Given the description of an element on the screen output the (x, y) to click on. 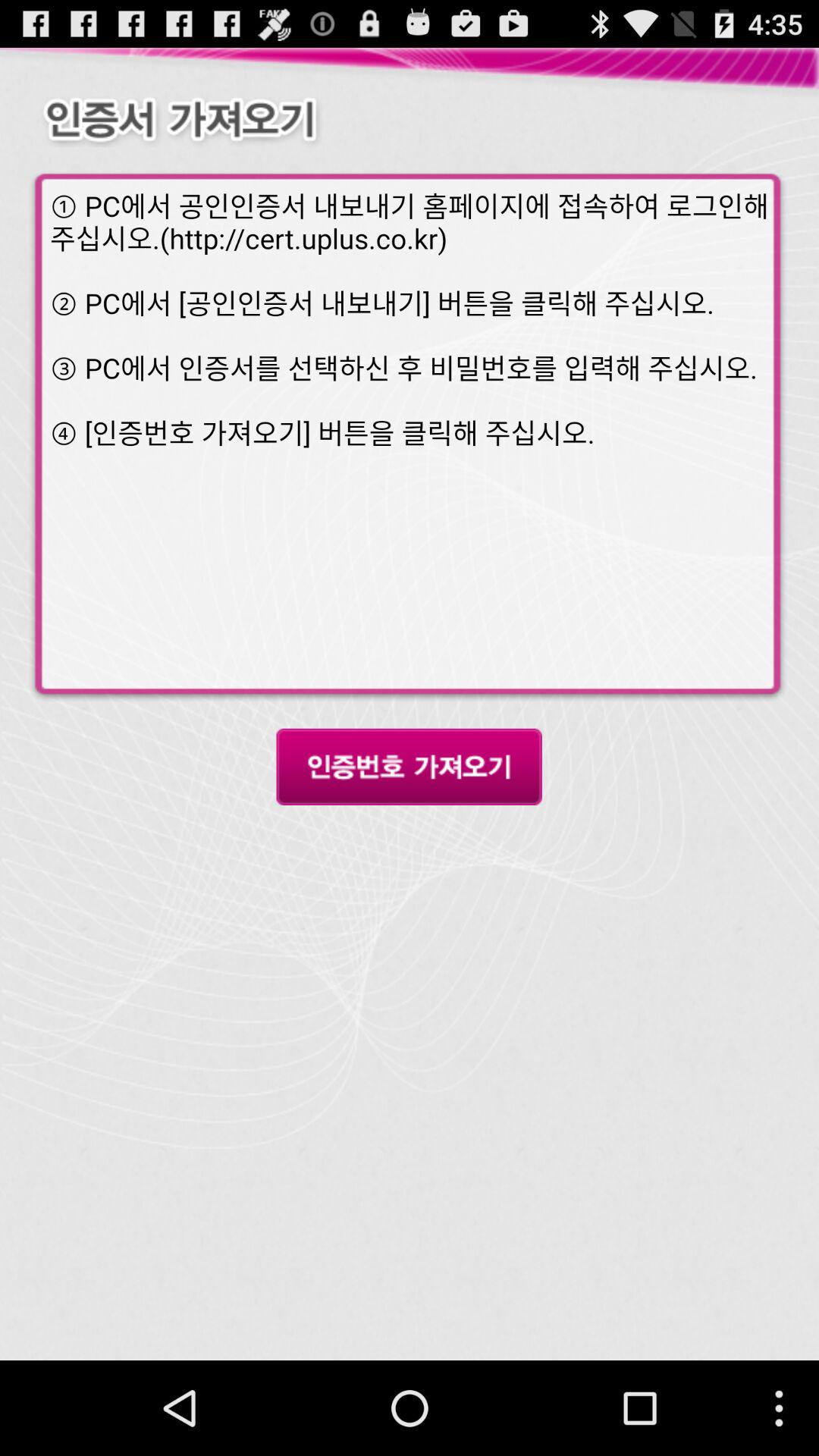
choose item at the center (409, 766)
